Given the description of an element on the screen output the (x, y) to click on. 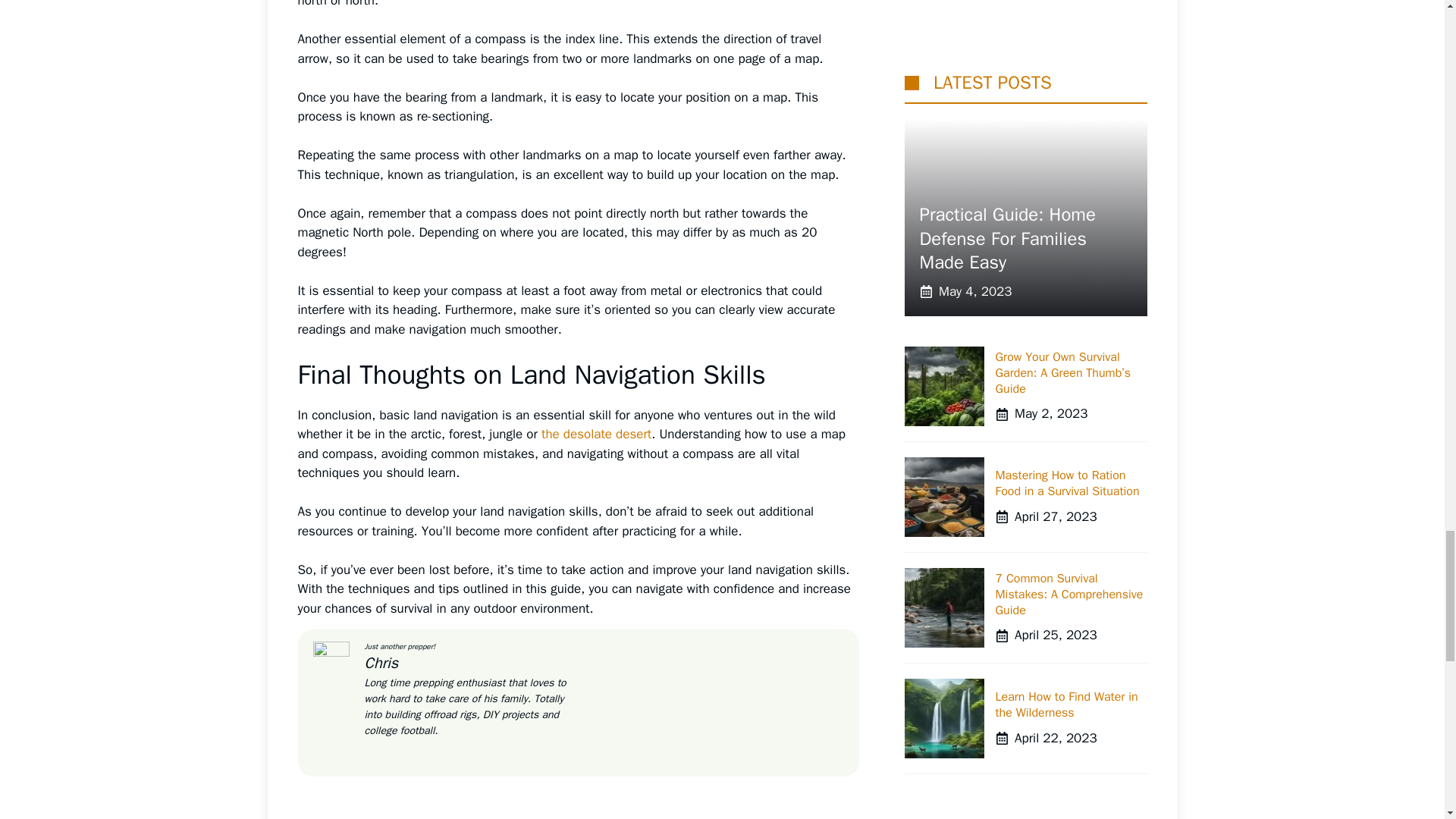
the desolate desert (595, 433)
